Given the description of an element on the screen output the (x, y) to click on. 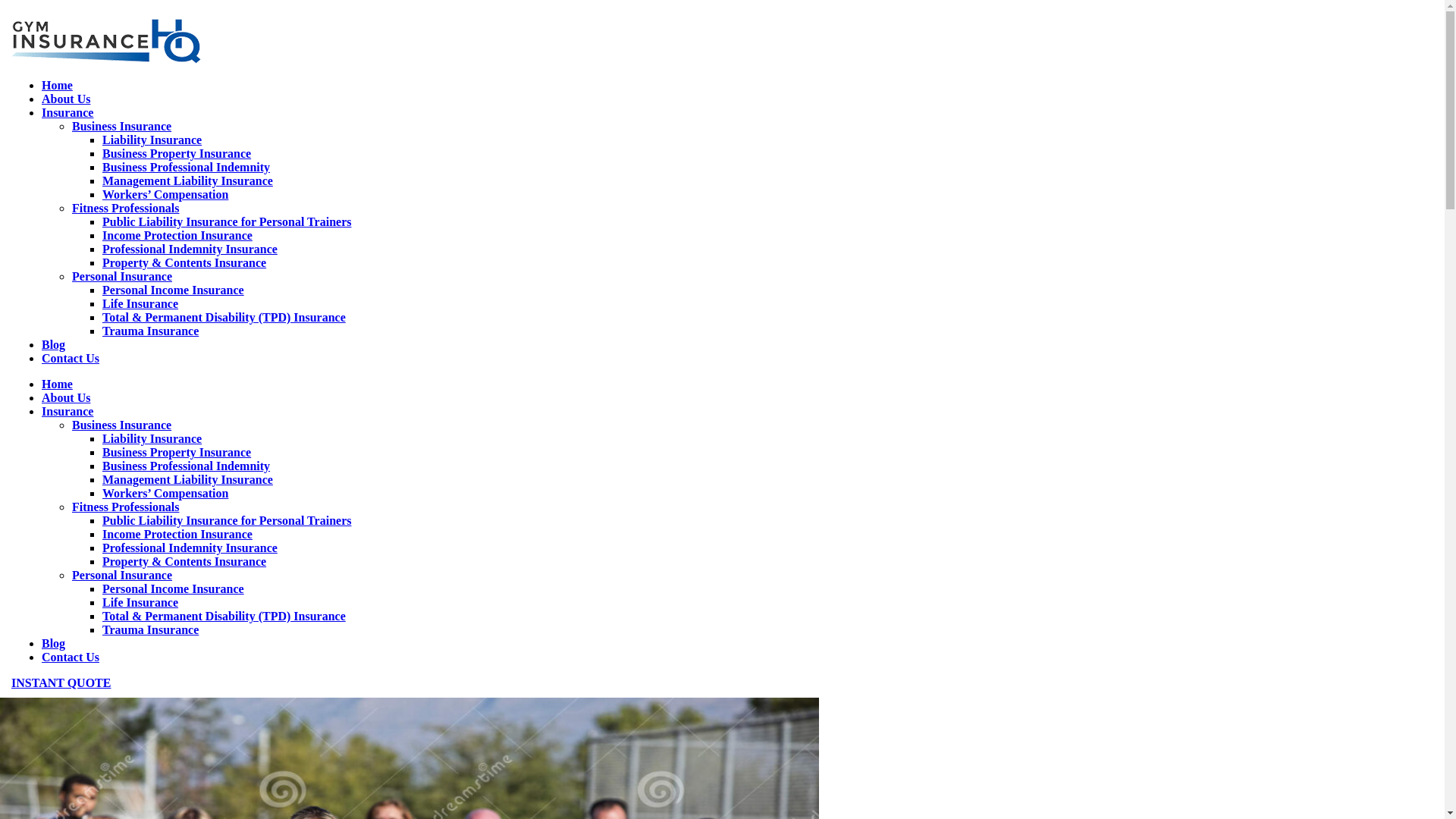
About Us Element type: text (65, 397)
INSTANT QUOTE Element type: text (60, 682)
Business Insurance Element type: text (121, 424)
Property & Contents Insurance Element type: text (184, 262)
Insurance Element type: text (67, 410)
About Us Element type: text (65, 98)
Business Property Insurance Element type: text (176, 153)
Management Liability Insurance Element type: text (187, 180)
Business Property Insurance Element type: text (176, 451)
Public Liability Insurance for Personal Trainers Element type: text (226, 520)
Professional Indemnity Insurance Element type: text (189, 547)
Business Professional Indemnity Element type: text (185, 166)
Fitness Professionals Element type: text (125, 207)
Income Protection Insurance Element type: text (177, 533)
Trauma Insurance Element type: text (150, 330)
Contact Us Element type: text (70, 357)
Management Liability Insurance Element type: text (187, 479)
Liability Insurance Element type: text (151, 438)
Total & Permanent Disability (TPD) Insurance Element type: text (223, 615)
Business Insurance Element type: text (121, 125)
logo Element type: hover (105, 40)
Blog Element type: text (53, 344)
Home Element type: text (56, 383)
Public Liability Insurance for Personal Trainers Element type: text (226, 221)
Life Insurance Element type: text (140, 602)
Personal Insurance Element type: text (122, 574)
Income Protection Insurance Element type: text (177, 235)
Professional Indemnity Insurance Element type: text (189, 248)
Personal Income Insurance Element type: text (173, 289)
Fitness Professionals Element type: text (125, 506)
Home Element type: text (56, 84)
Personal Income Insurance Element type: text (173, 588)
Liability Insurance Element type: text (151, 139)
Total & Permanent Disability (TPD) Insurance Element type: text (223, 316)
Life Insurance Element type: text (140, 303)
Trauma Insurance Element type: text (150, 629)
Contact Us Element type: text (70, 656)
Personal Insurance Element type: text (122, 275)
Insurance Element type: text (67, 112)
Blog Element type: text (53, 643)
Business Professional Indemnity Element type: text (185, 465)
Property & Contents Insurance Element type: text (184, 561)
